Given the description of an element on the screen output the (x, y) to click on. 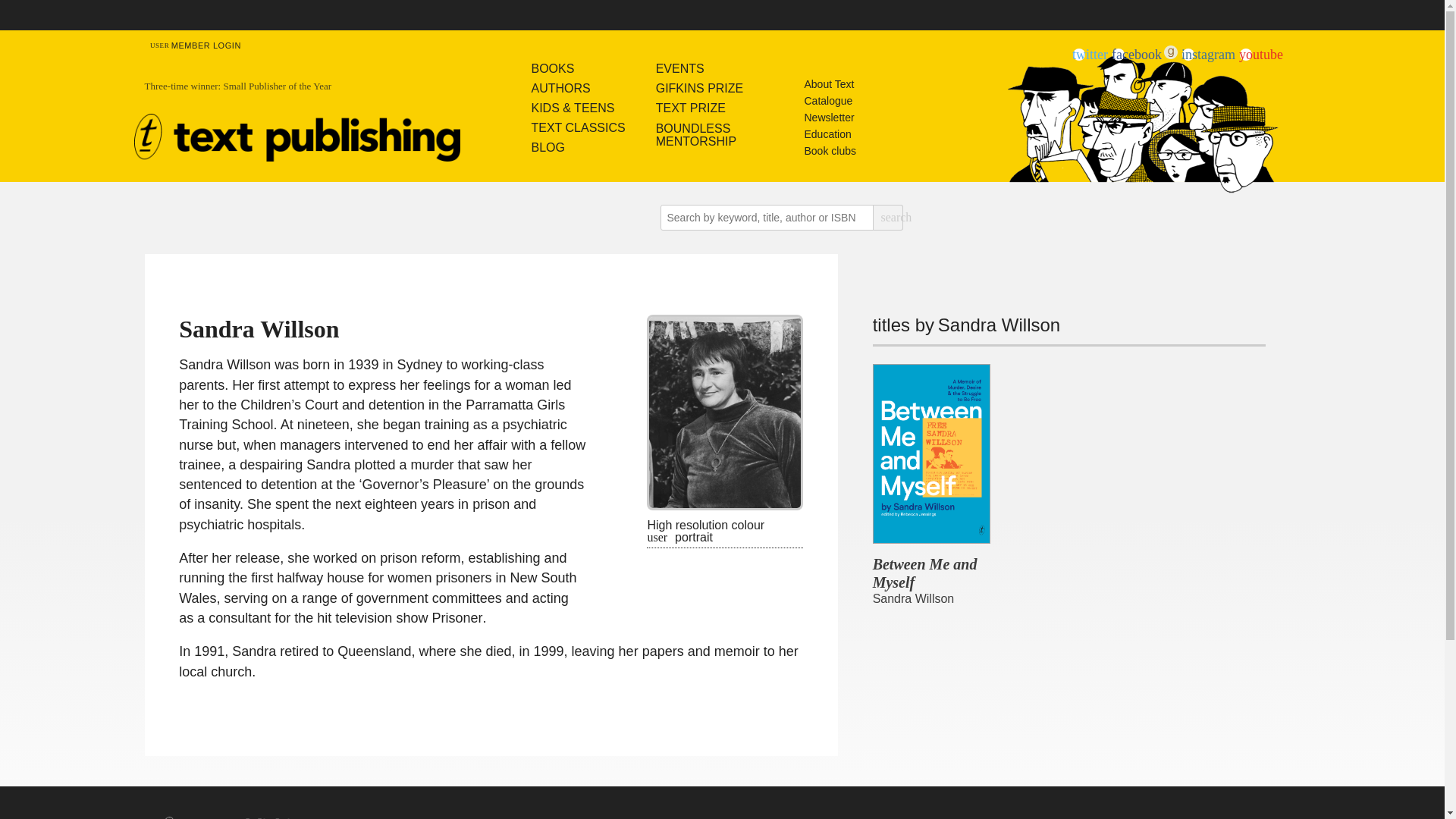
TEXT PRIZE (700, 107)
AUTHORS (577, 88)
Newsletter (829, 117)
facebook (1136, 54)
BOOKS (577, 68)
youtube (1260, 54)
search (887, 217)
Education (829, 134)
Three-time winner: Small Publisher of the Year (320, 90)
EVENTS (700, 68)
